Given the description of an element on the screen output the (x, y) to click on. 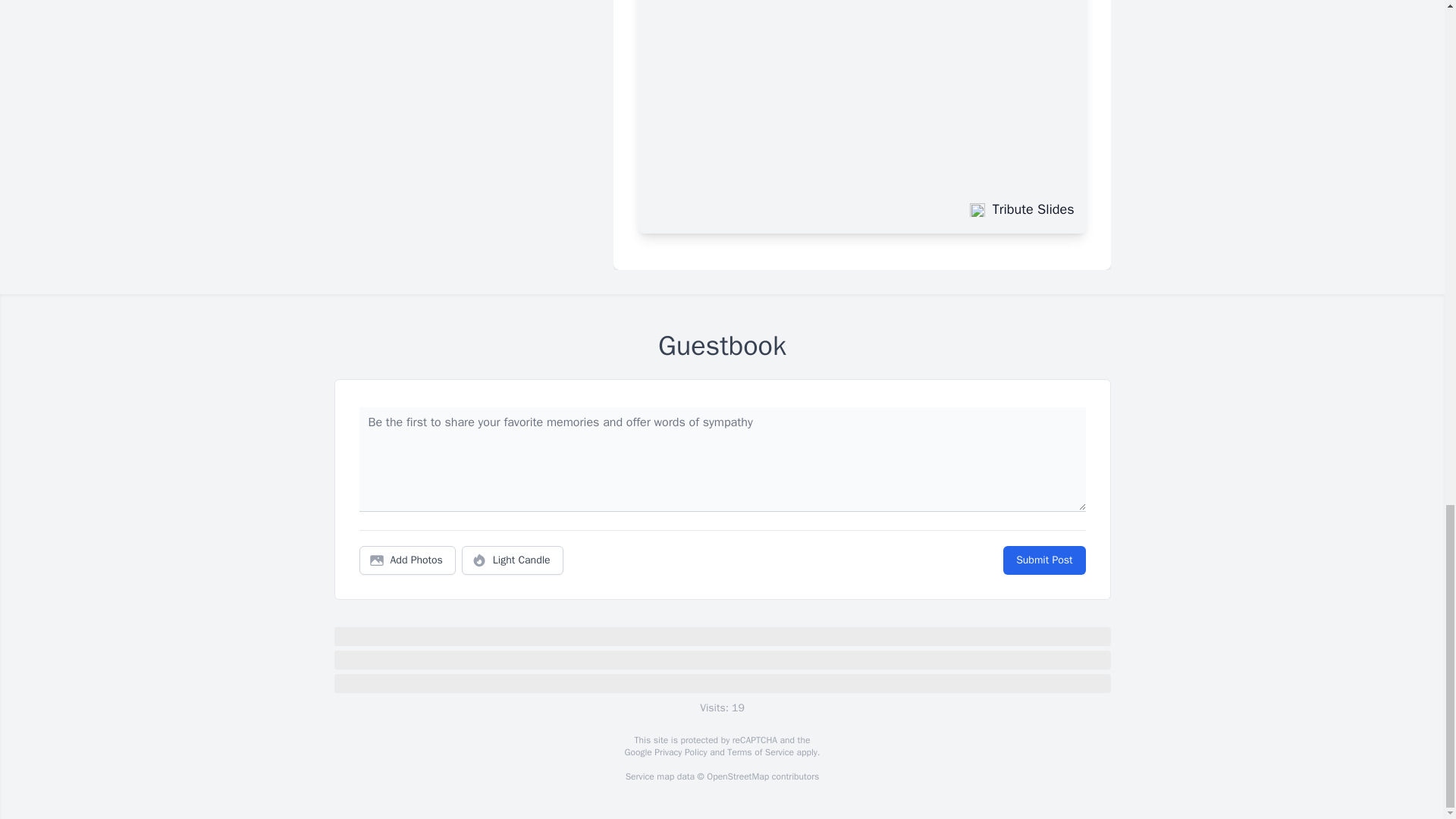
Privacy Policy (679, 752)
Submit Post (1043, 560)
Light Candle (512, 560)
Terms of Service (759, 752)
Add Photos (407, 560)
OpenStreetMap (737, 776)
